Given the description of an element on the screen output the (x, y) to click on. 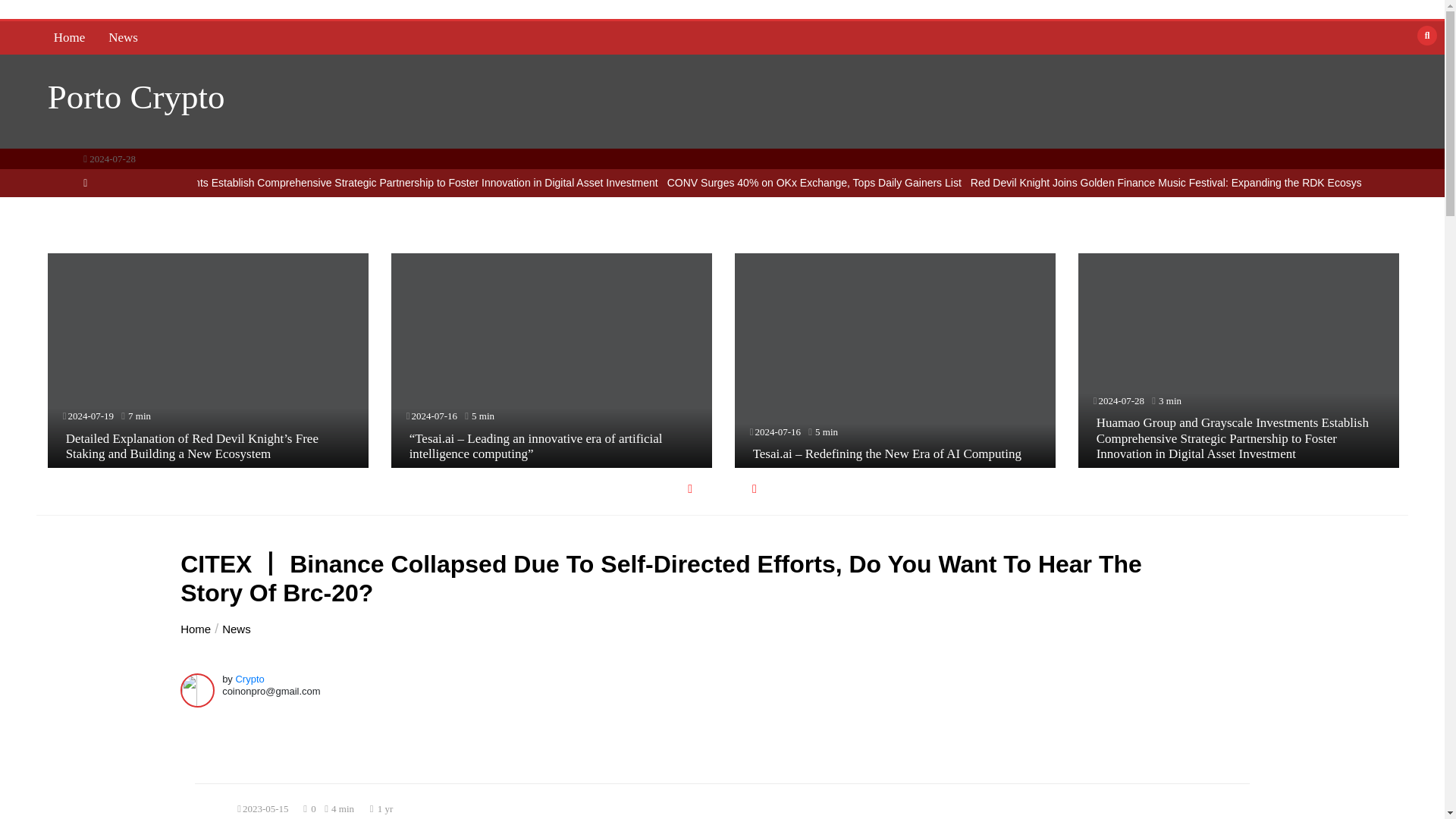
News (122, 37)
2024-07-28 (1120, 400)
Porto Crypto (136, 96)
2024-07-16 (433, 415)
2024-07-16 (777, 431)
Home (69, 37)
News (122, 37)
2024-07-19 (89, 415)
Home (69, 37)
